Given the description of an element on the screen output the (x, y) to click on. 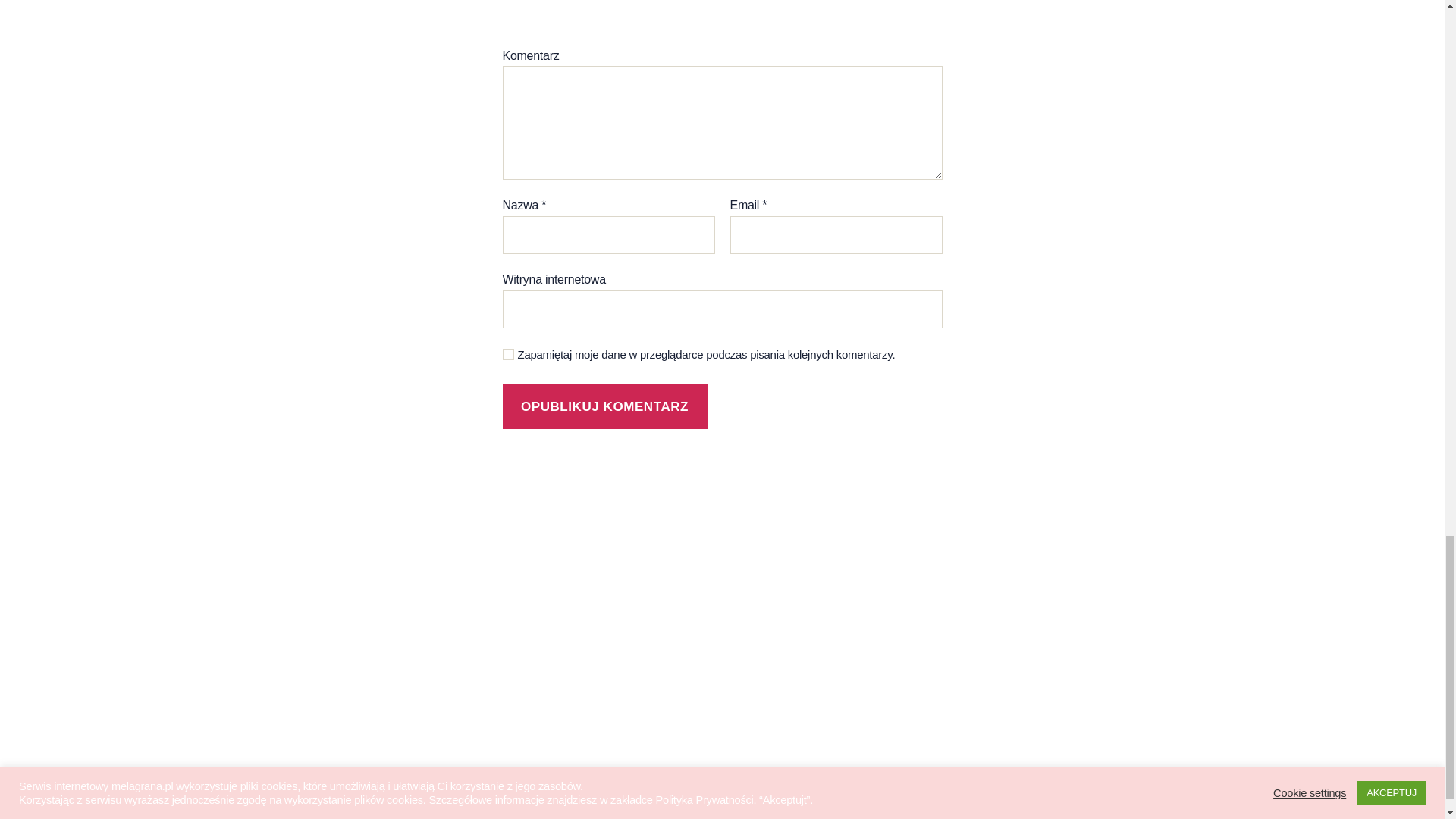
yes (507, 354)
moja historia (310, 576)
Malagrana (327, 801)
Opublikuj komentarz (604, 406)
oferta (285, 655)
o nas (285, 550)
co robimy (300, 602)
kontakt (291, 681)
Opublikuj komentarz (604, 406)
